Given the description of an element on the screen output the (x, y) to click on. 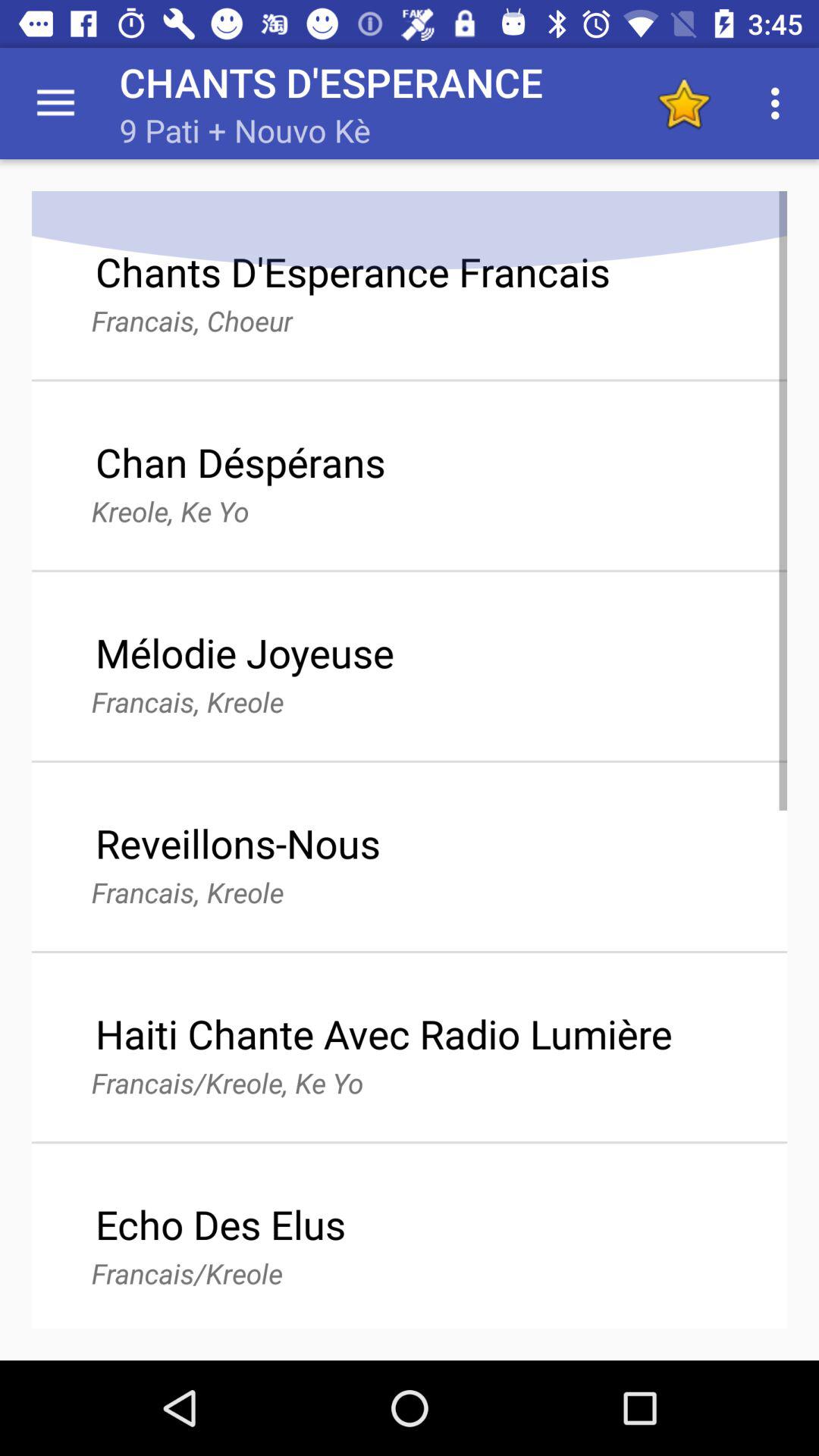
turn off the icon below the francais kreole ke (220, 1223)
